Given the description of an element on the screen output the (x, y) to click on. 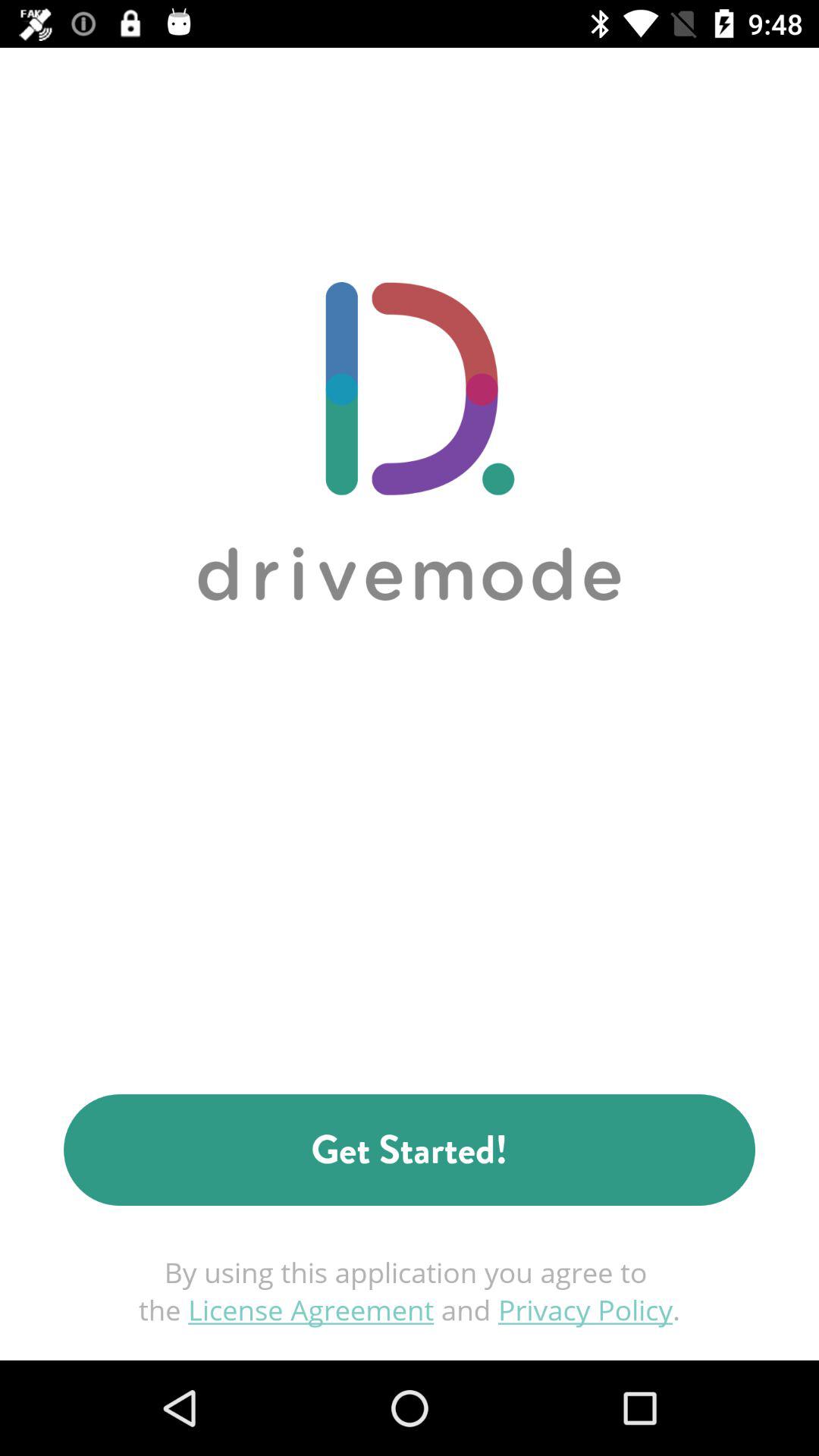
turn off the icon below the get started! icon (409, 1290)
